Given the description of an element on the screen output the (x, y) to click on. 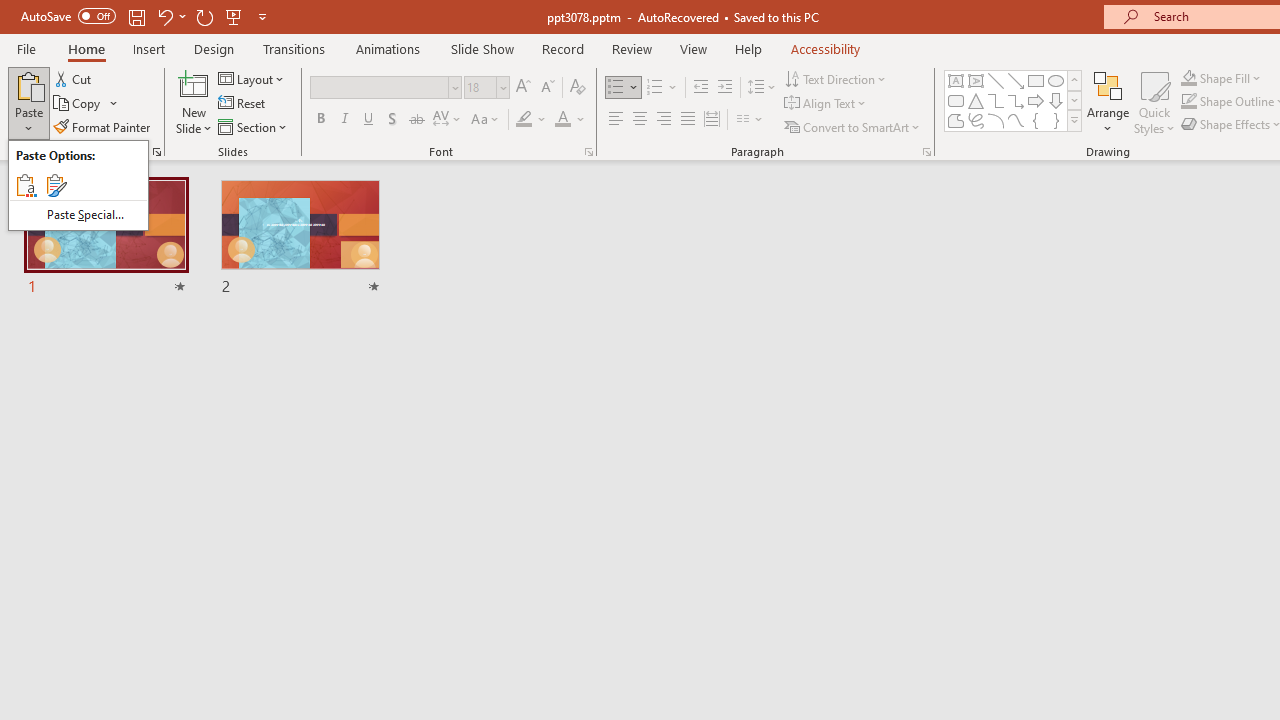
Layout (252, 78)
Font Color Red (562, 119)
Increase Font Size (522, 87)
Freeform: Shape (955, 120)
Bullets (623, 87)
Underline (369, 119)
Shape Outline Green, Accent 1 (1188, 101)
Decrease Font Size (547, 87)
Accessibility (825, 48)
Arrow: Down (1055, 100)
Freeform: Scribble (975, 120)
Line (995, 80)
